Given the description of an element on the screen output the (x, y) to click on. 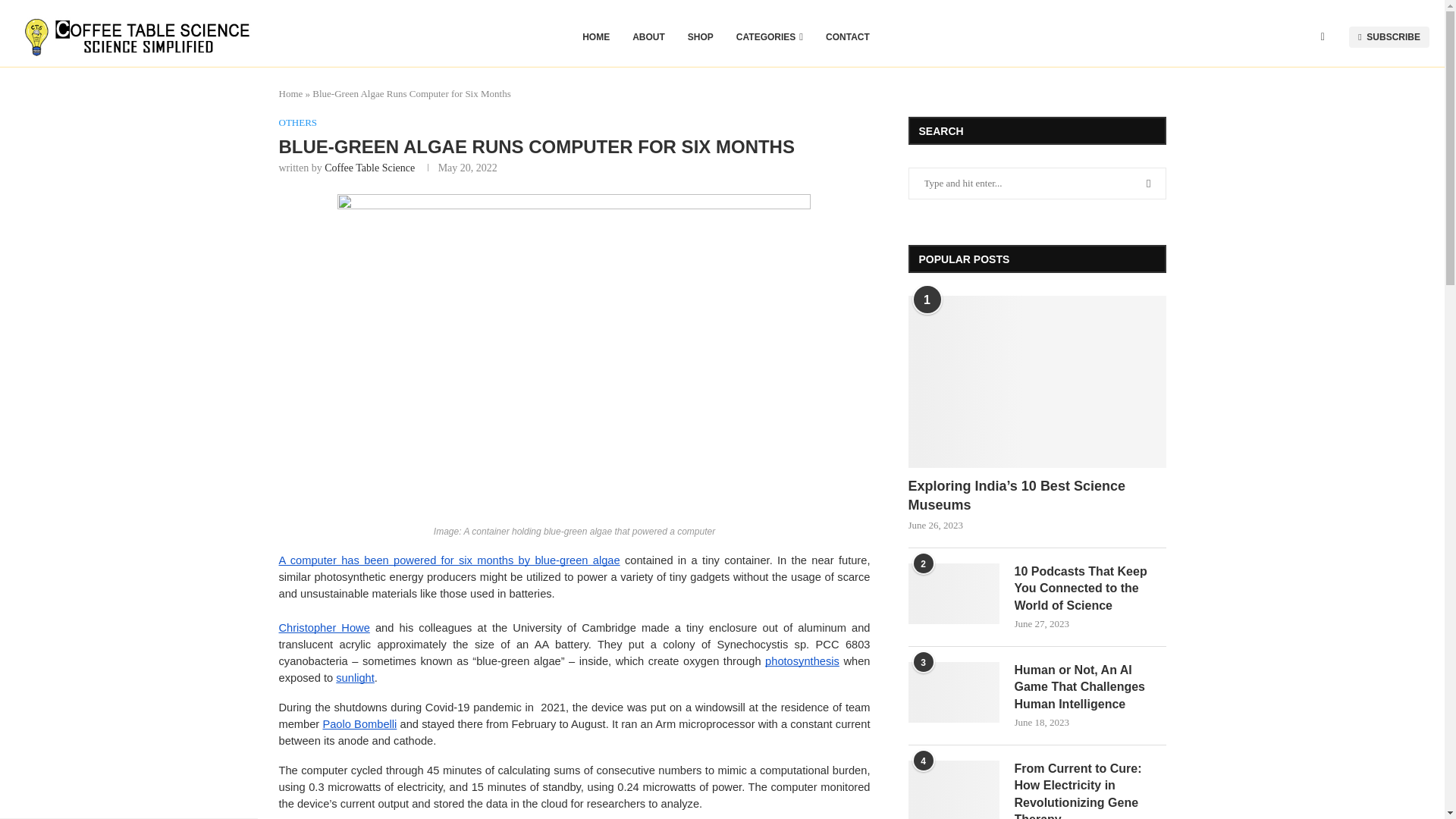
CATEGORIES (769, 36)
  SUBSCRIBE (1389, 36)
CONTACT (847, 36)
